Given the description of an element on the screen output the (x, y) to click on. 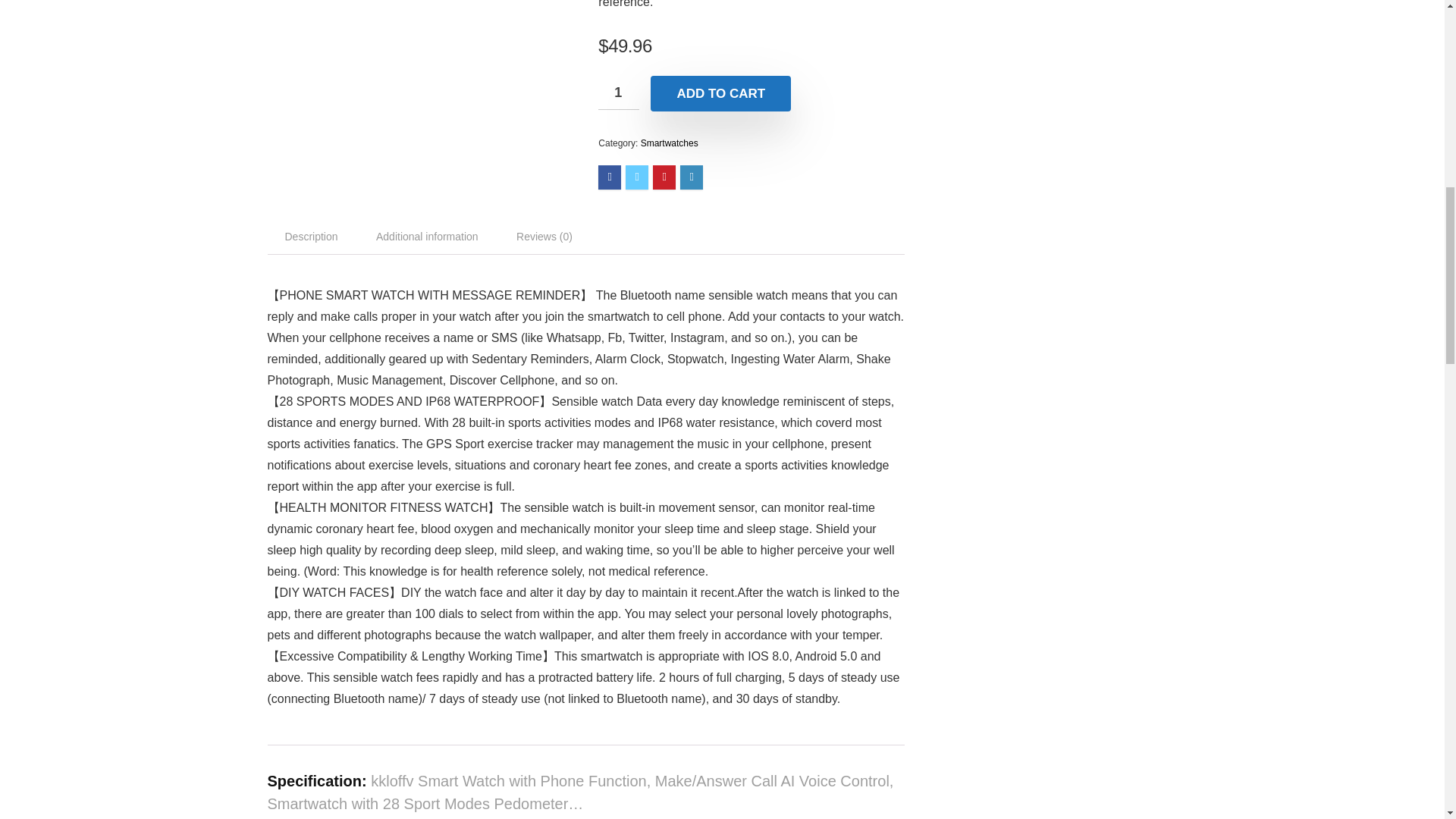
1 (618, 92)
